Given the description of an element on the screen output the (x, y) to click on. 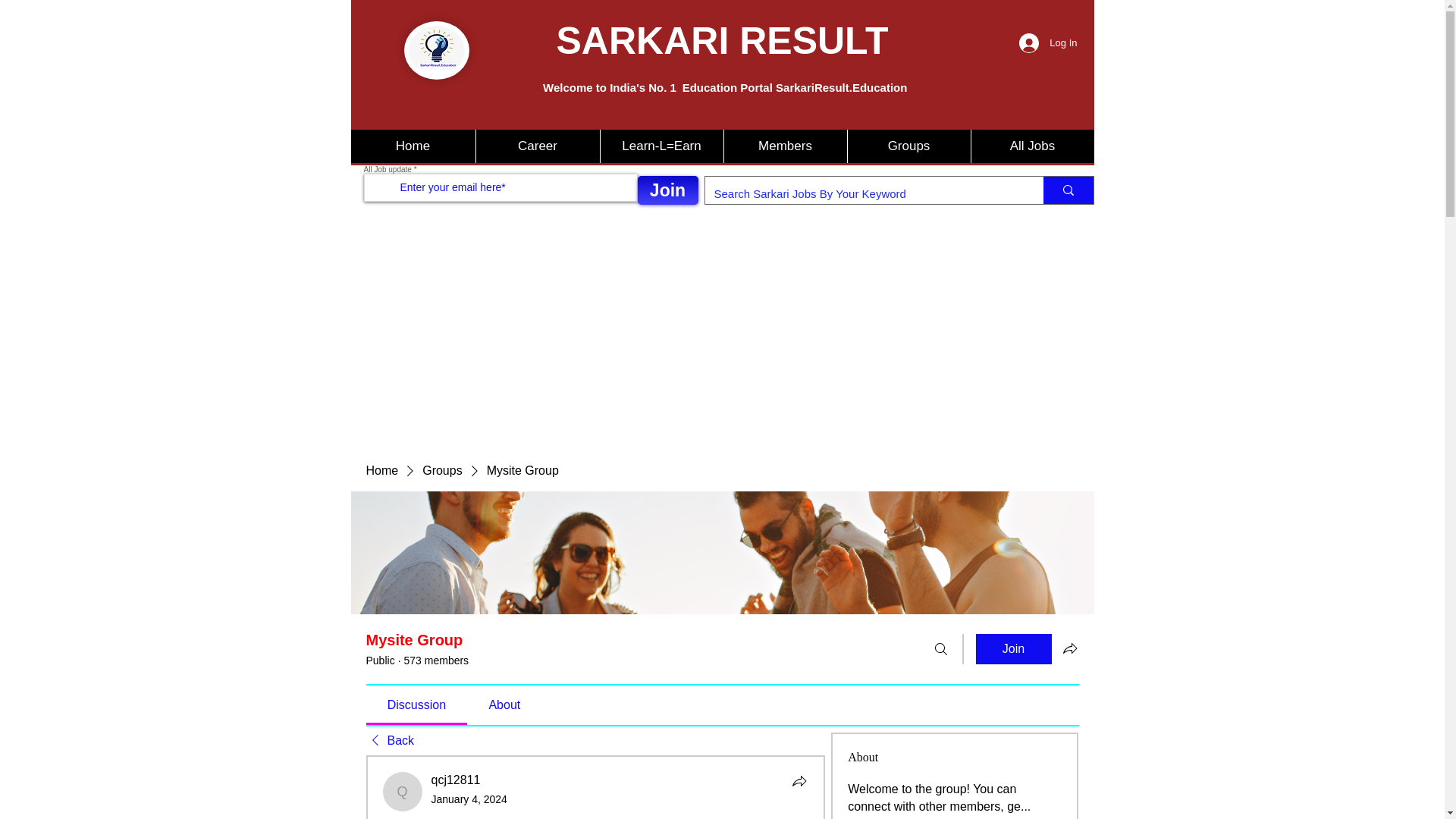
SarkariResult.Education (435, 50)
qcj12811 (401, 791)
Career (536, 145)
Log In (1048, 42)
Home (412, 145)
Groups (907, 145)
Members (785, 145)
SARKARI RESULT (722, 40)
